Given the description of an element on the screen output the (x, y) to click on. 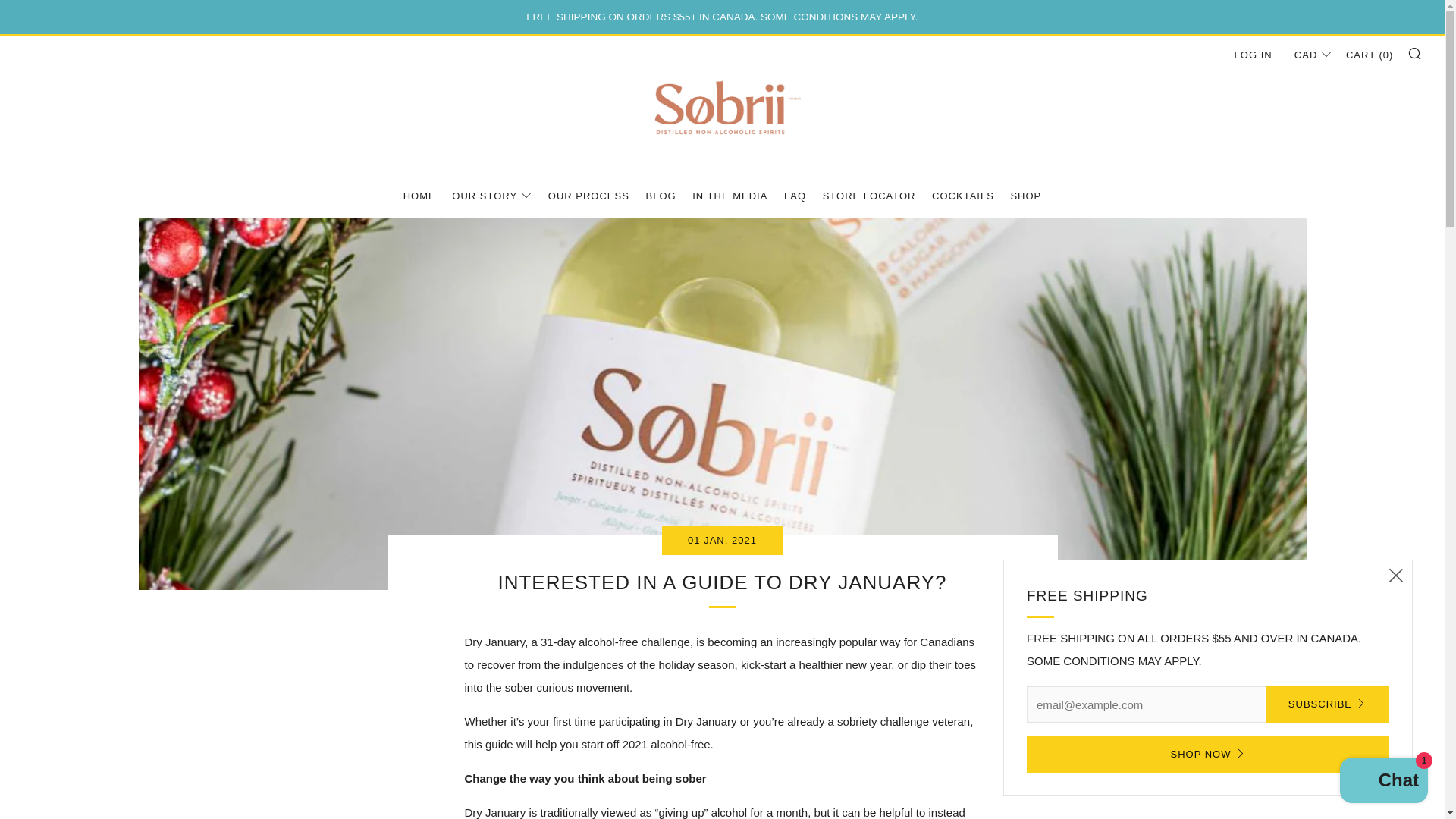
IN THE MEDIA (730, 196)
COCKTAILS (962, 196)
HOME (419, 196)
OUR STORY (491, 196)
SHOP (1025, 196)
FAQ (795, 196)
STORE LOCATOR (868, 196)
Shopify online store chat (1383, 781)
CAD (1308, 55)
LOG IN (1253, 55)
OUR PROCESS (588, 196)
BLOG (660, 196)
